Given the description of an element on the screen output the (x, y) to click on. 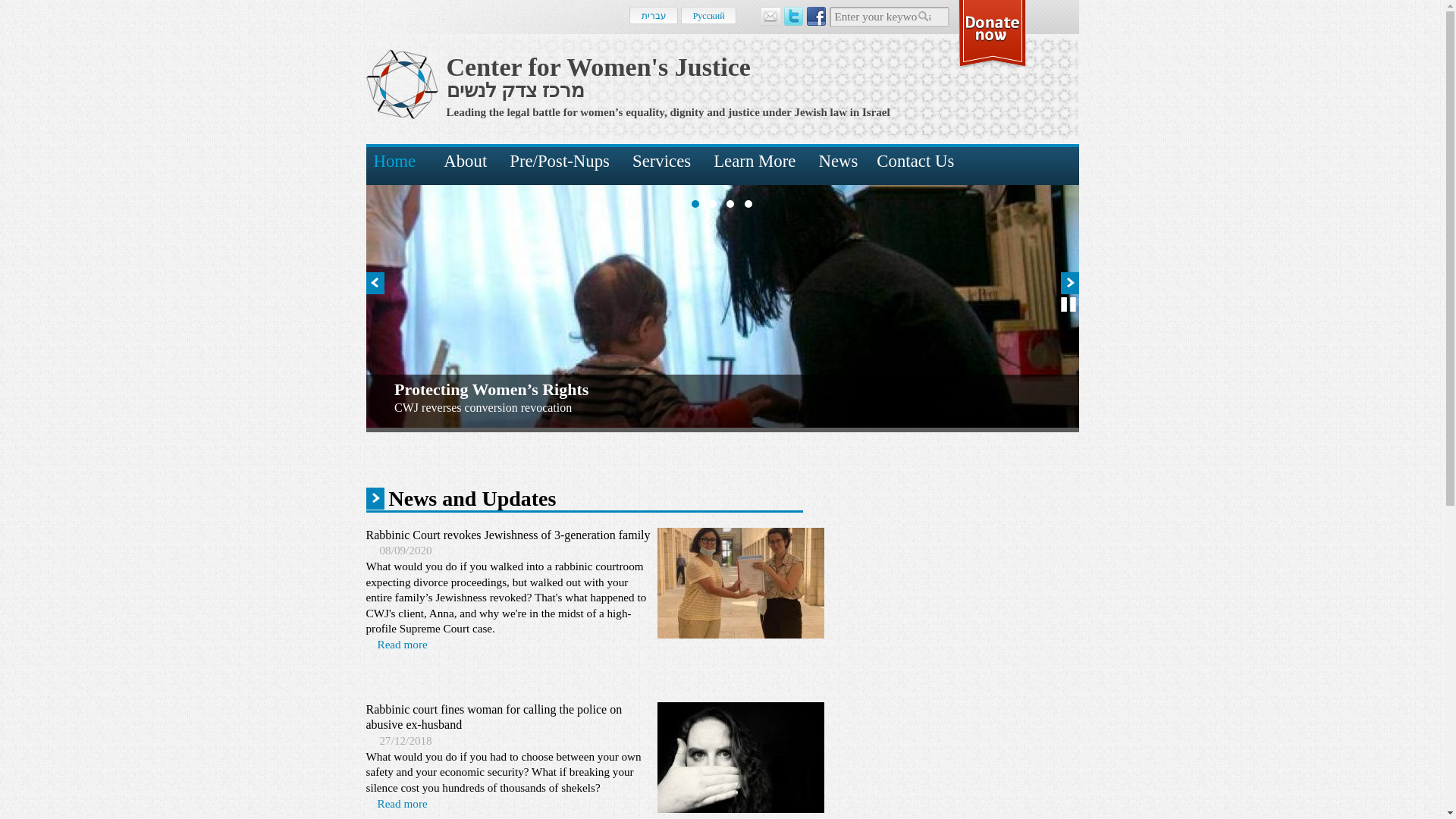
Center for Women's Justice (597, 67)
mail (770, 15)
Home (401, 84)
twitter (793, 15)
donate (992, 33)
Search (925, 17)
About (464, 164)
Services (661, 164)
Search (925, 17)
Home (597, 67)
Learn More (753, 164)
Home (514, 88)
facebook (815, 15)
Home (398, 164)
News (837, 164)
